Given the description of an element on the screen output the (x, y) to click on. 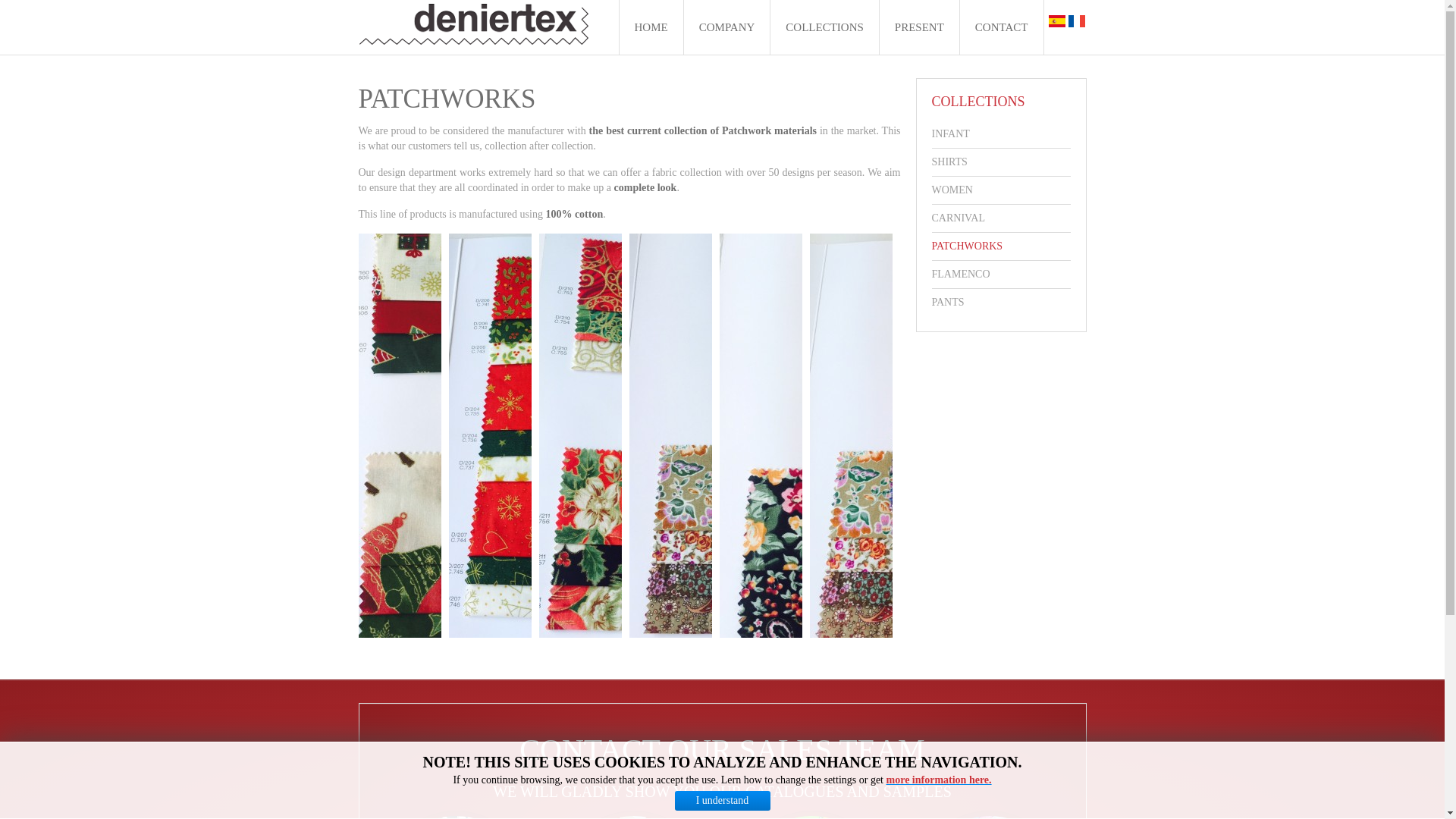
FLAMENCO (1000, 274)
PANTS (1000, 302)
PATCHWORKS (1000, 246)
WOMEN (1000, 189)
INFANT (1000, 134)
more information here. (938, 779)
COMPANY (726, 27)
PRESENT (919, 27)
COLLECTIONS (824, 27)
SHIRTS (1000, 162)
